Given the description of an element on the screen output the (x, y) to click on. 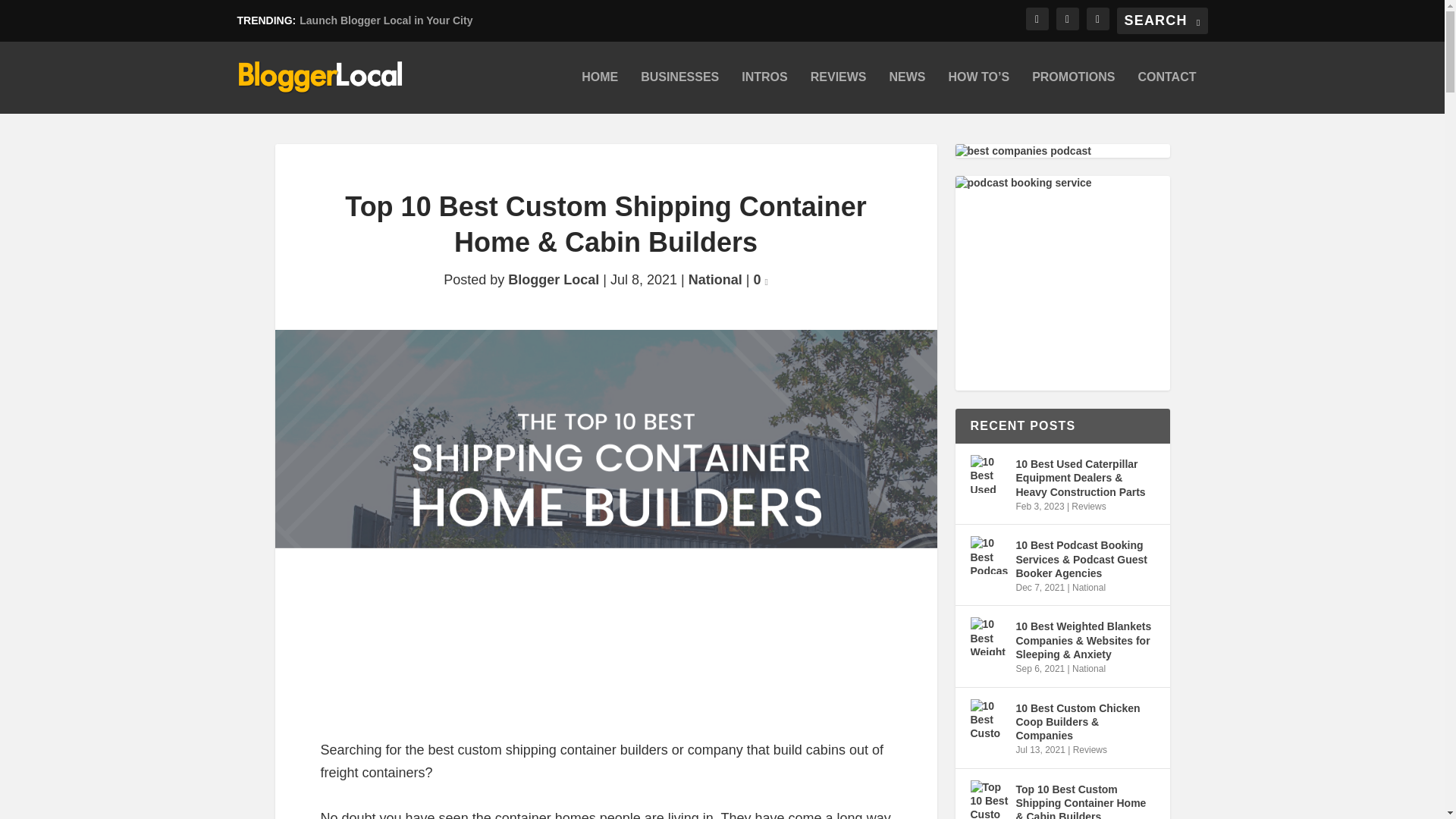
REVIEWS (838, 92)
Search for: (1161, 20)
Launch Blogger Local in Your City (385, 20)
INTROS (764, 92)
Blogger Local (553, 279)
0 (759, 279)
BUSINESSES (679, 92)
Posts by Blogger Local (553, 279)
National (715, 279)
PROMOTIONS (1073, 92)
